Given the description of an element on the screen output the (x, y) to click on. 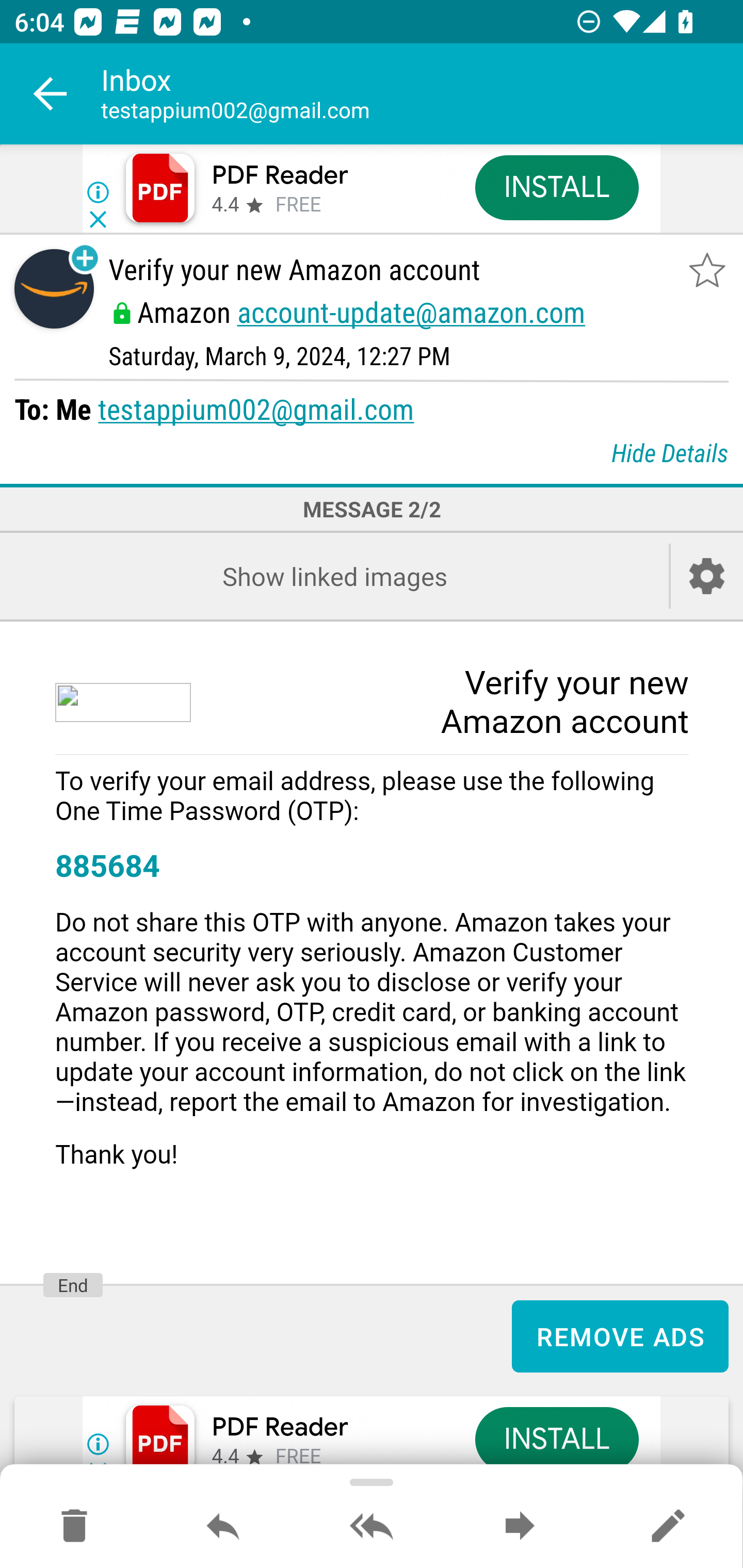
Navigate up (50, 93)
Inbox testappium002@gmail.com (422, 93)
INSTALL (556, 187)
PDF Reader (279, 175)
4.4 (224, 204)
FREE (298, 204)
Sender contact button (53, 289)
Show linked images (334, 576)
Account setup (706, 576)
885684 (107, 866)
REMOVE ADS (619, 1335)
INSTALL (556, 1439)
PDF Reader (279, 1427)
4.4 (224, 1457)
FREE (298, 1457)
Move to Deleted (74, 1527)
Reply (222, 1527)
Reply all (371, 1527)
Forward (519, 1527)
Reply as new (667, 1527)
